Given the description of an element on the screen output the (x, y) to click on. 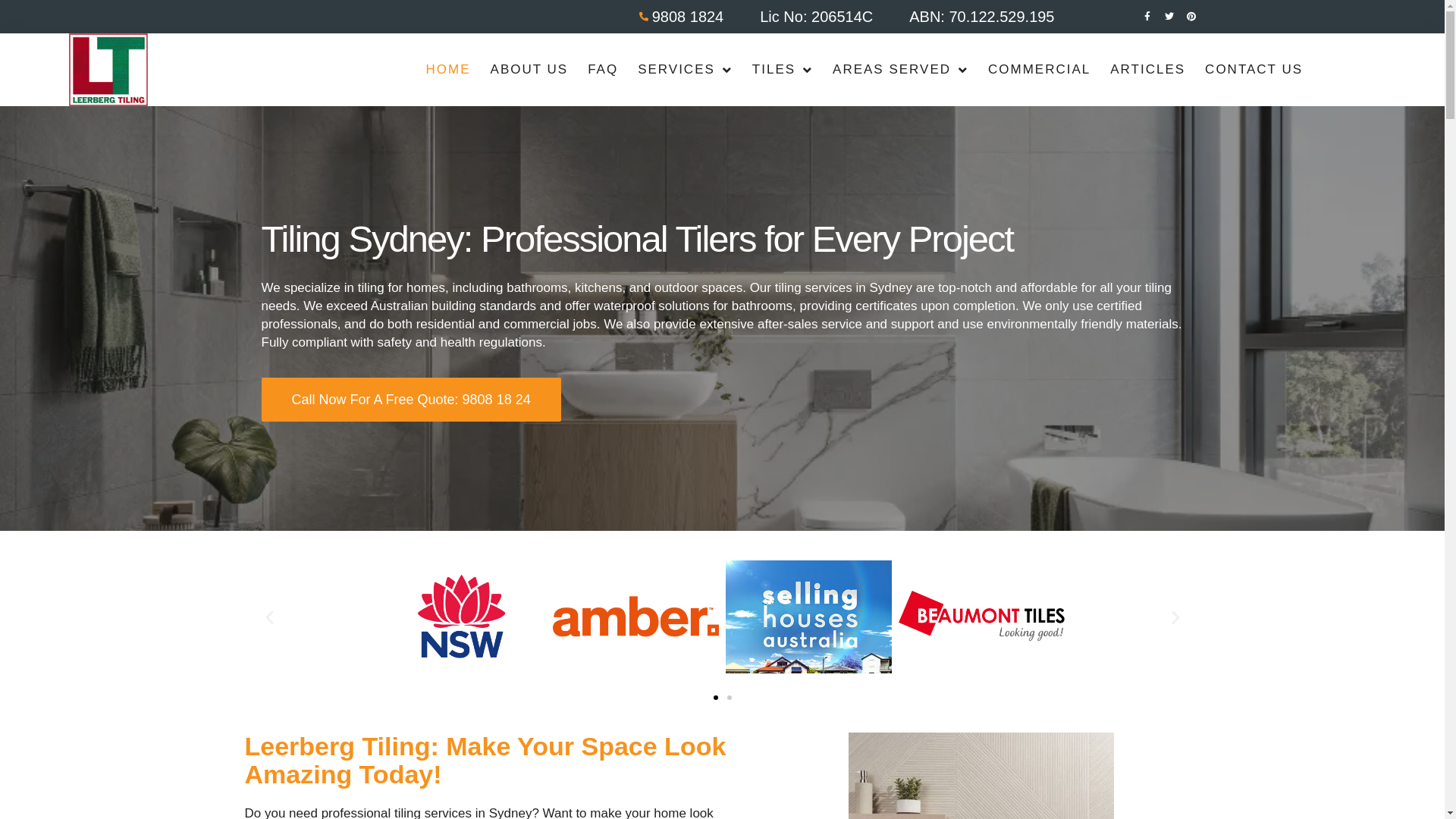
AREAS SERVED Element type: text (900, 69)
SERVICES Element type: text (684, 69)
CONTACT US Element type: text (1253, 69)
TILES Element type: text (782, 69)
COMMERCIAL Element type: text (1039, 69)
FAQ Element type: text (602, 69)
ARTICLES Element type: text (1147, 69)
Call Now For A Free Quote: 9808 18 24 Element type: text (410, 399)
HOME Element type: text (448, 69)
ABOUT US Element type: text (529, 69)
